Given the description of an element on the screen output the (x, y) to click on. 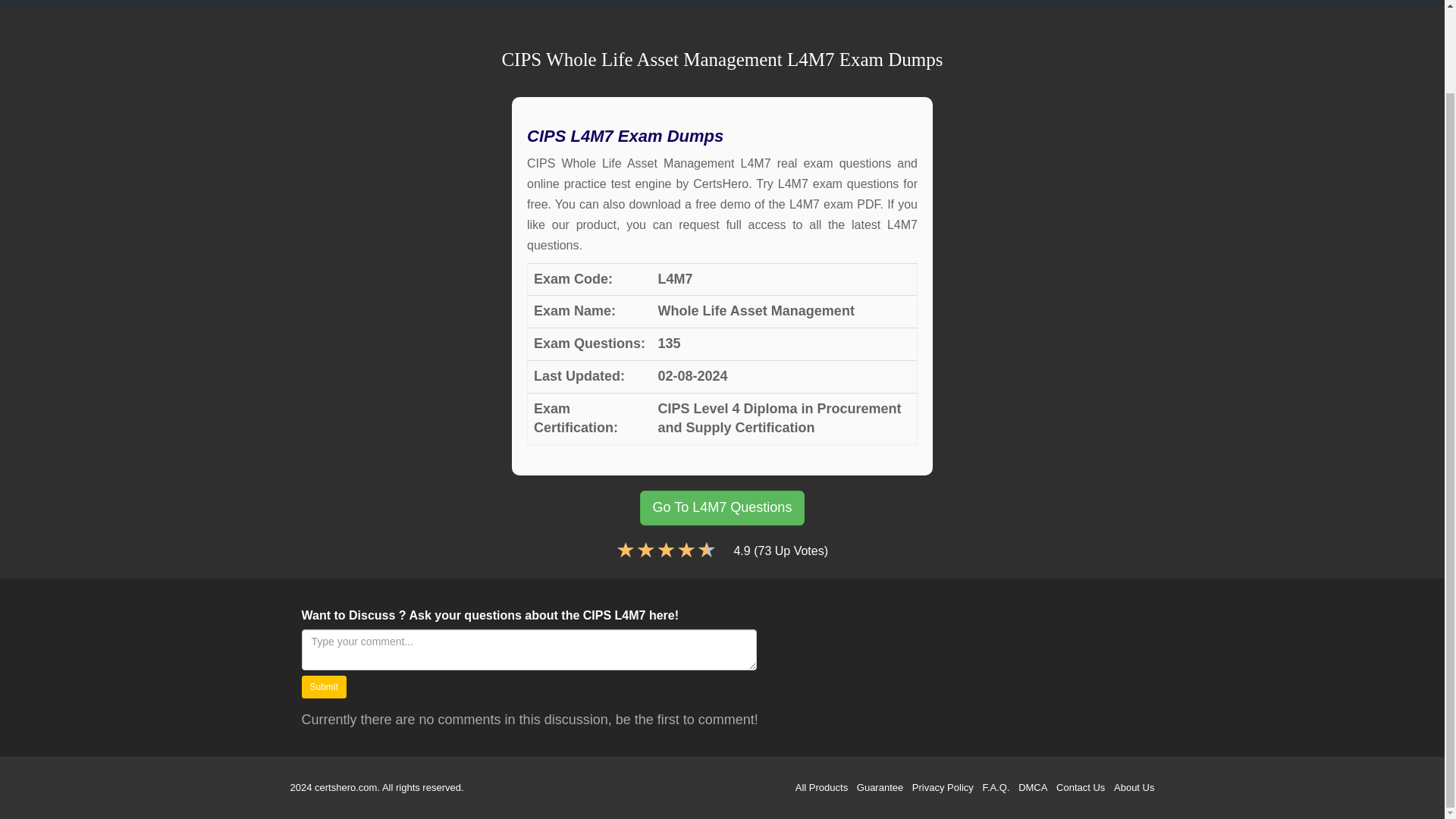
Submit (323, 686)
About Us (1133, 787)
Privacy Policy (943, 787)
F.A.Q. (995, 787)
Guarantee (879, 787)
Contact Us (1081, 787)
DMCA (1031, 787)
Go To L4M7 Questions (722, 507)
All Products (820, 787)
